Given the description of an element on the screen output the (x, y) to click on. 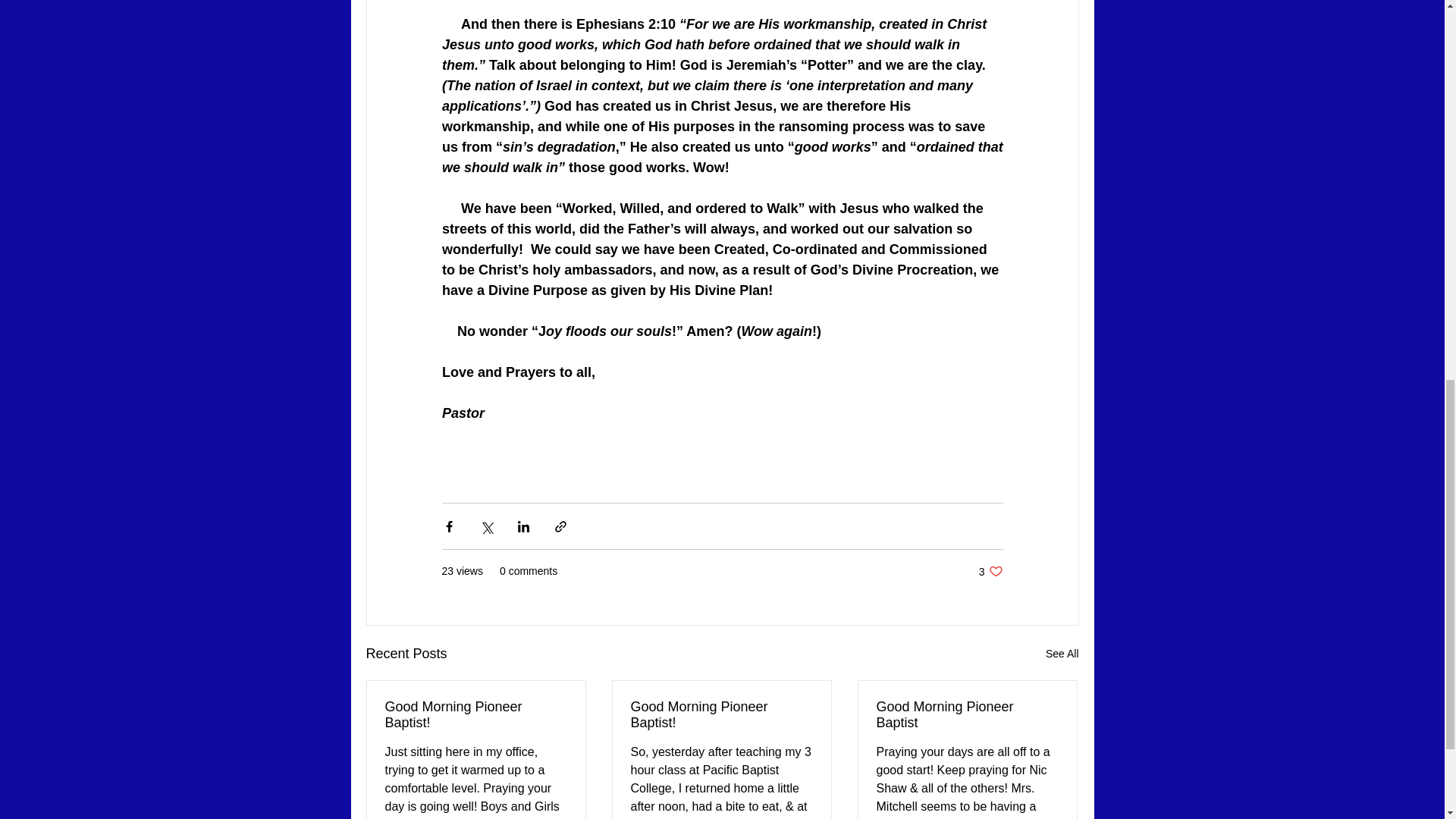
Good Morning Pioneer Baptist (967, 715)
Good Morning Pioneer Baptist! (476, 715)
See All (1061, 653)
Good Morning Pioneer Baptist! (721, 715)
